Given the description of an element on the screen output the (x, y) to click on. 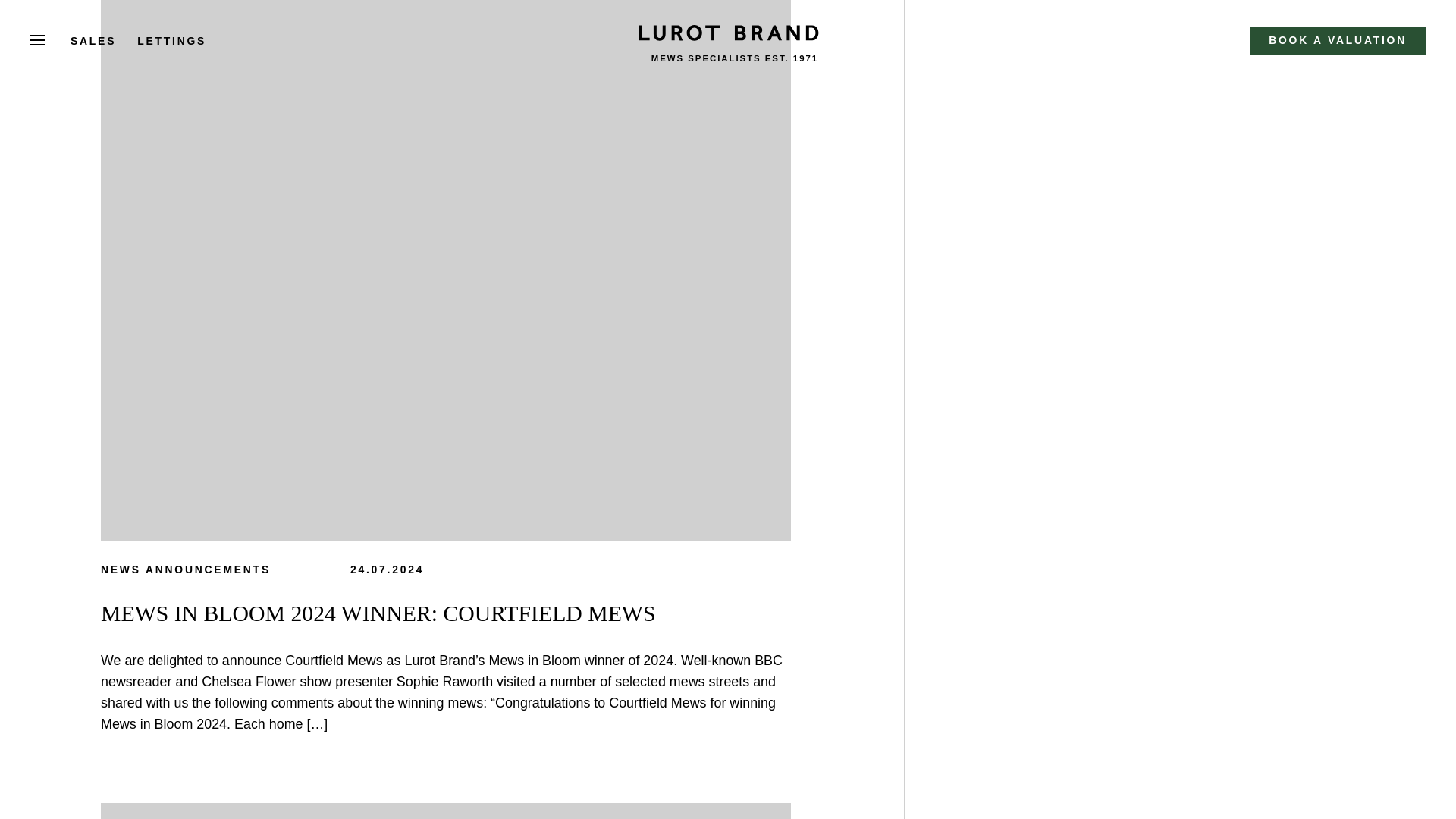
News Announcements (185, 569)
